Given the description of an element on the screen output the (x, y) to click on. 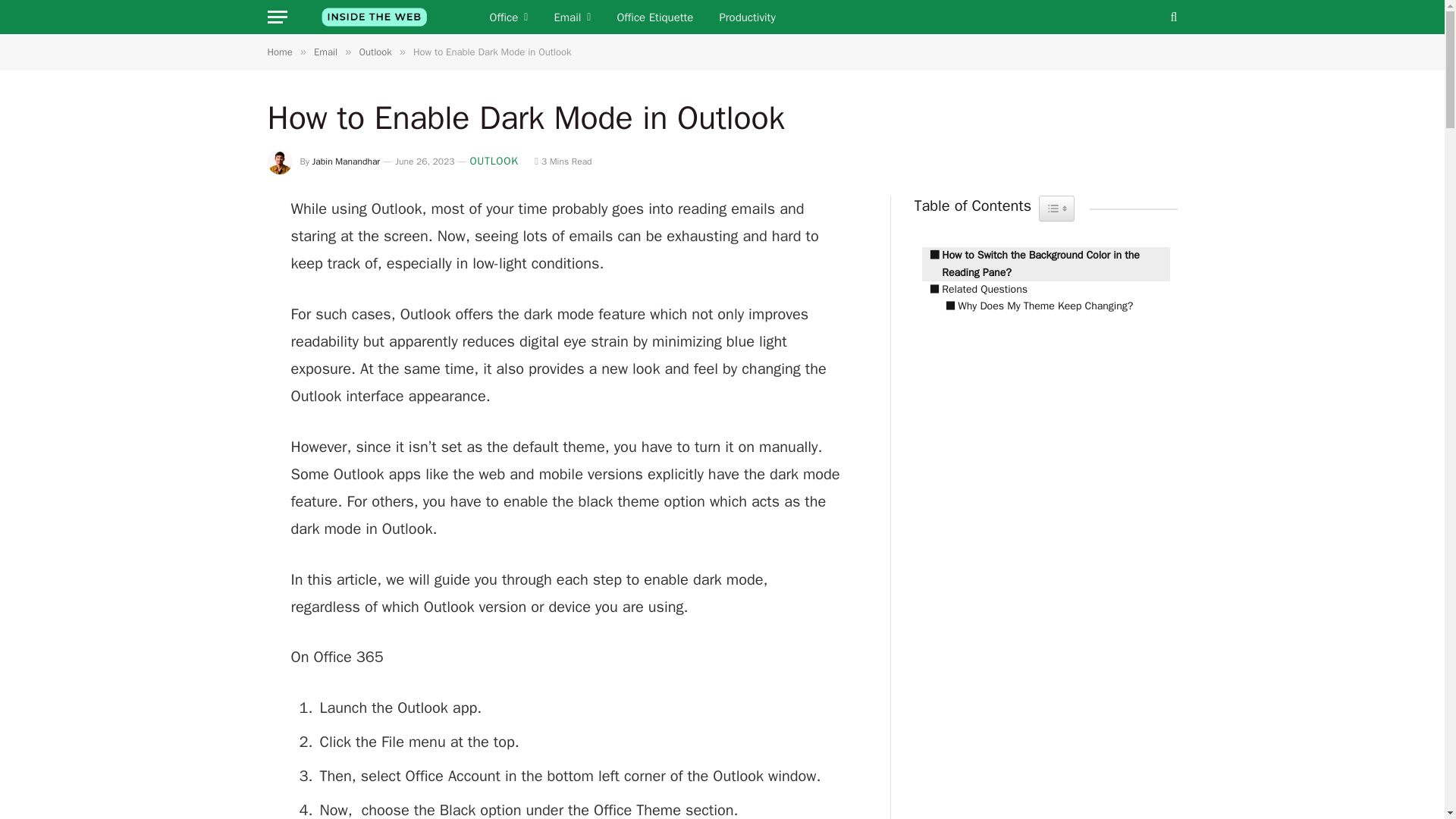
Home (279, 51)
Why Does My Theme Keep Changing? (1034, 306)
How to Switch the Background Color in the Reading Pane? (1045, 264)
Related Questions (974, 289)
Outlook (374, 51)
Office (508, 17)
Inside The Web (373, 17)
Office Etiquette (655, 17)
Email (325, 51)
Email (572, 17)
OUTLOOK (493, 161)
Productivity (746, 17)
Posts by Jabin Manandhar (346, 161)
Jabin Manandhar (346, 161)
